Given the description of an element on the screen output the (x, y) to click on. 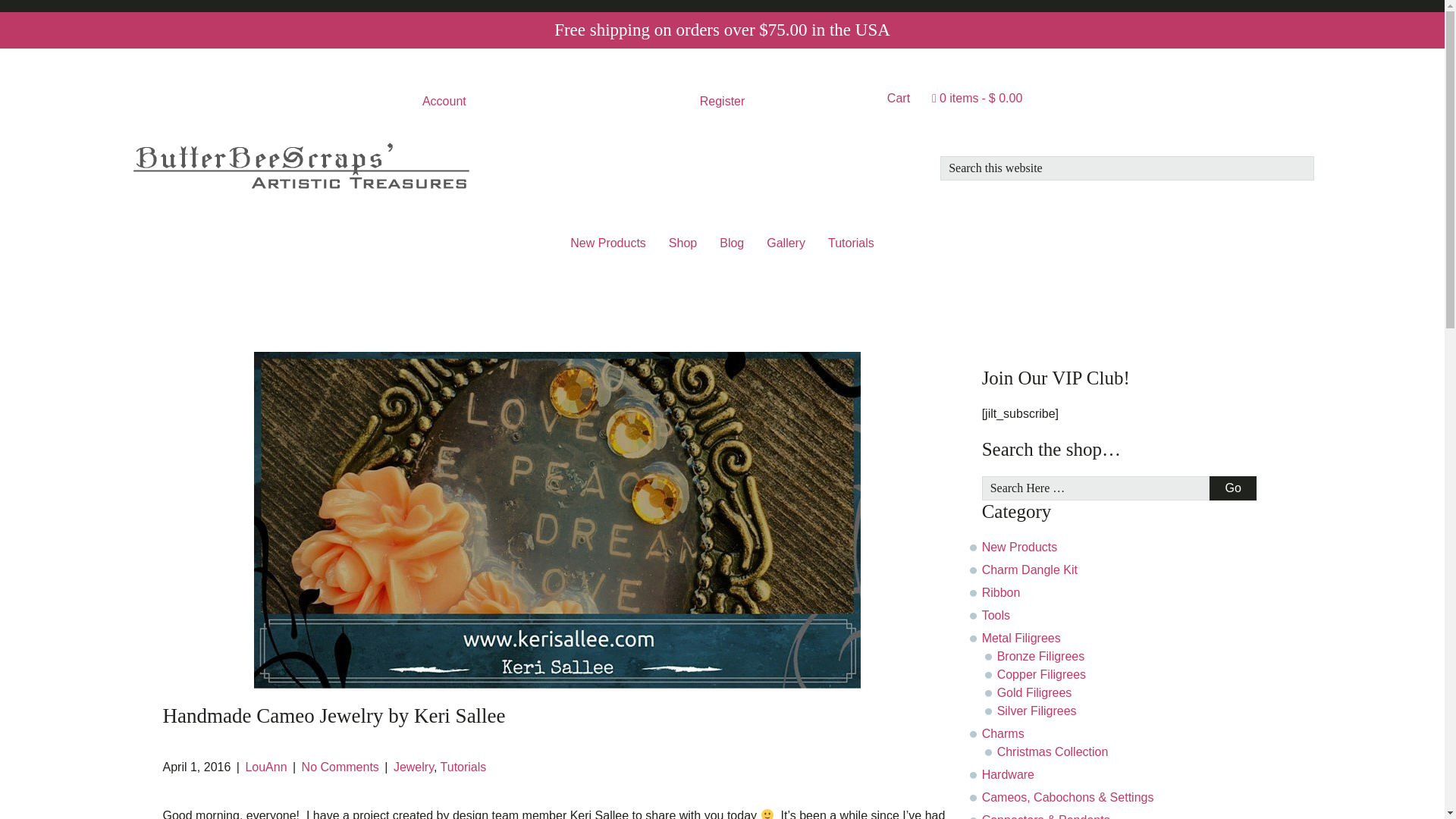
Gallery (785, 243)
Account (443, 101)
Go (1232, 487)
New Products (607, 243)
Tutorials (851, 243)
Register (722, 101)
